Given the description of an element on the screen output the (x, y) to click on. 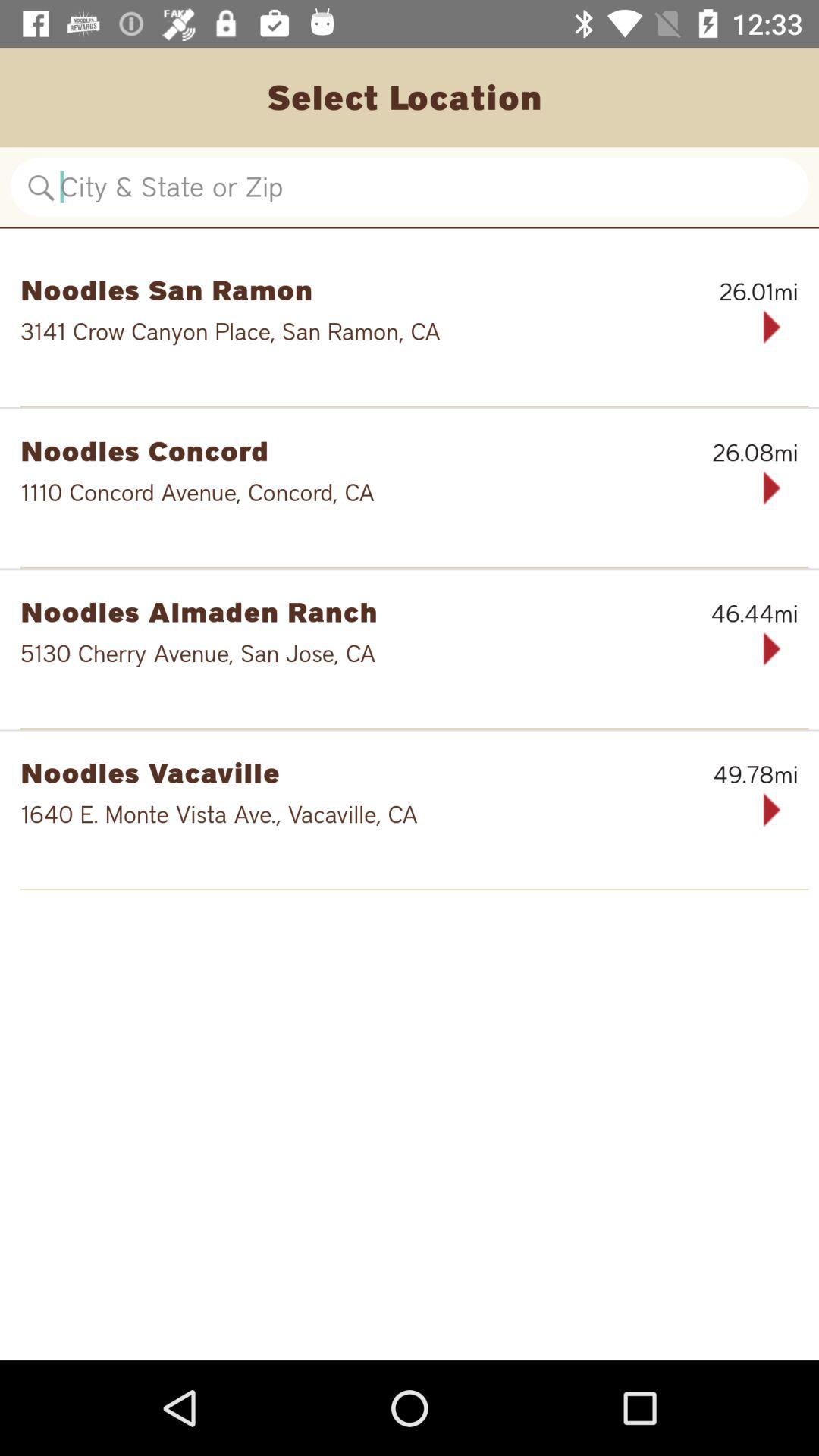
location search bar (409, 186)
